Given the description of an element on the screen output the (x, y) to click on. 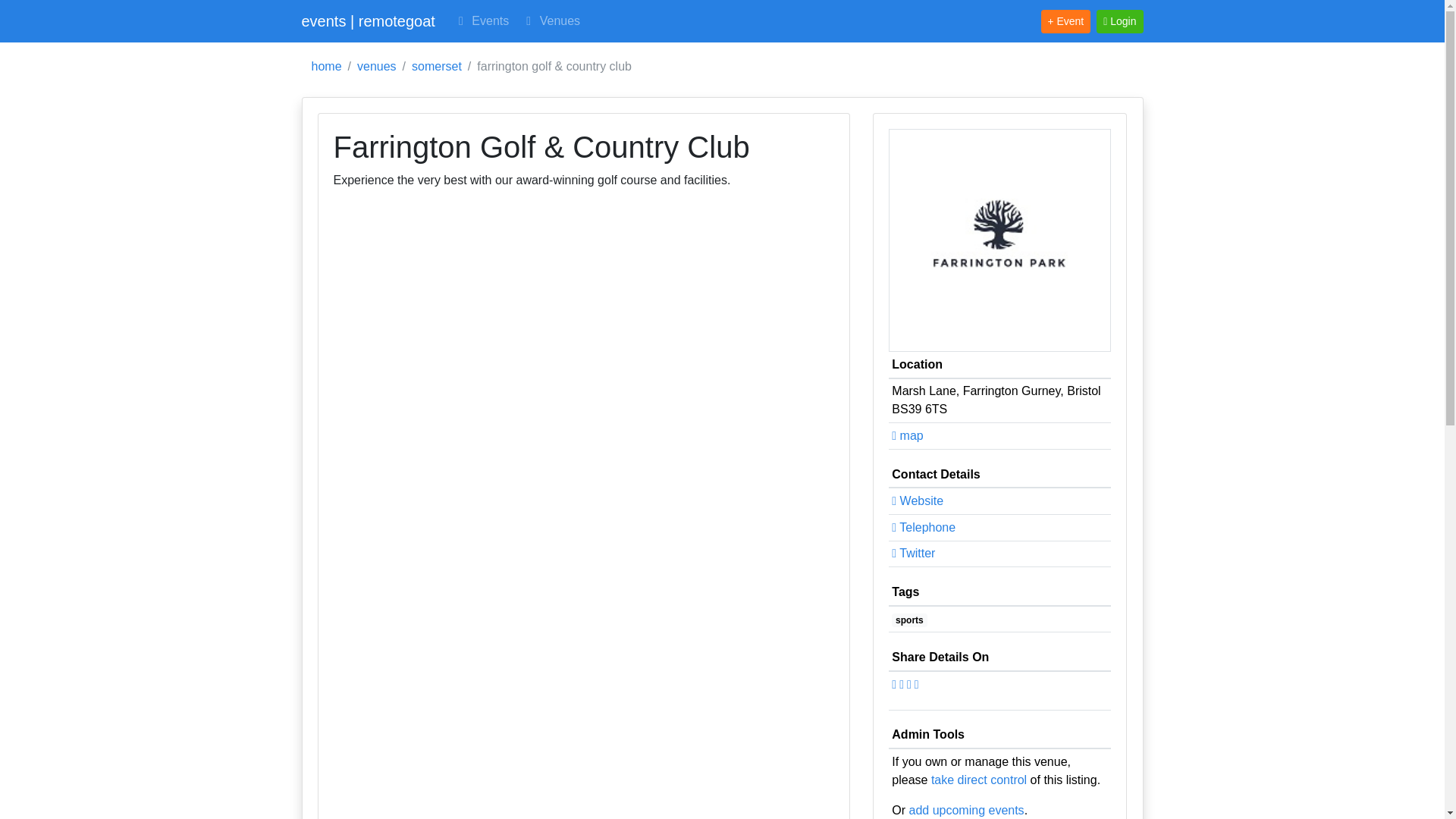
home (325, 66)
Twitter (912, 553)
Login (1119, 20)
Website (917, 500)
add upcoming events (966, 809)
map (907, 435)
Telephone (923, 526)
Website (917, 500)
somerset (436, 66)
Manage this venue (978, 779)
Telephone (923, 526)
Venues for Events, Gigs and Shows (550, 20)
list new event (966, 809)
Events (480, 20)
sports (908, 620)
